Given the description of an element on the screen output the (x, y) to click on. 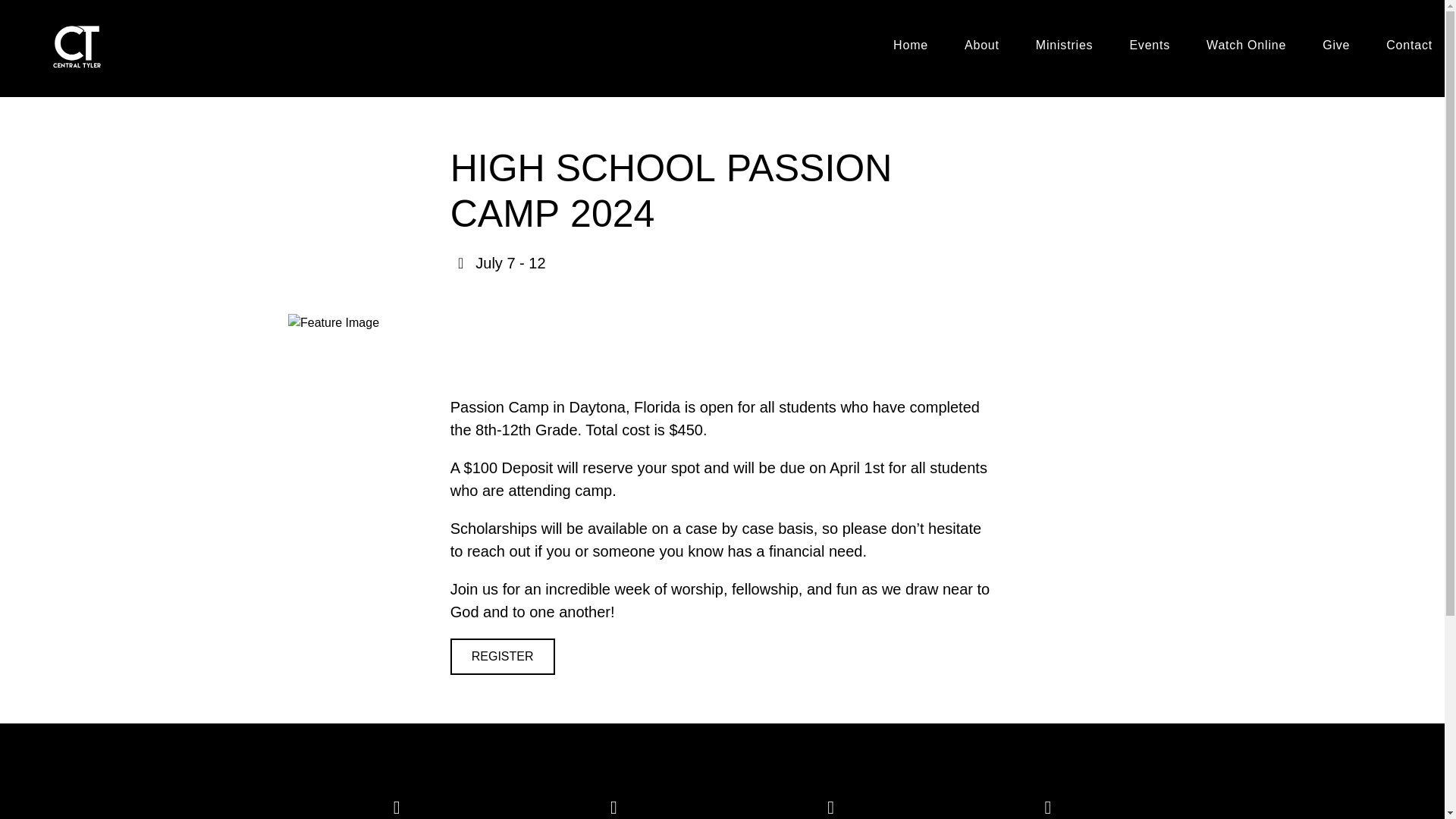
Home (910, 48)
Contact (1409, 48)
Ministries (1064, 48)
Watch Online (1246, 48)
REGISTER (501, 656)
Give (1335, 48)
About (980, 48)
Events (1149, 48)
